Given the description of an element on the screen output the (x, y) to click on. 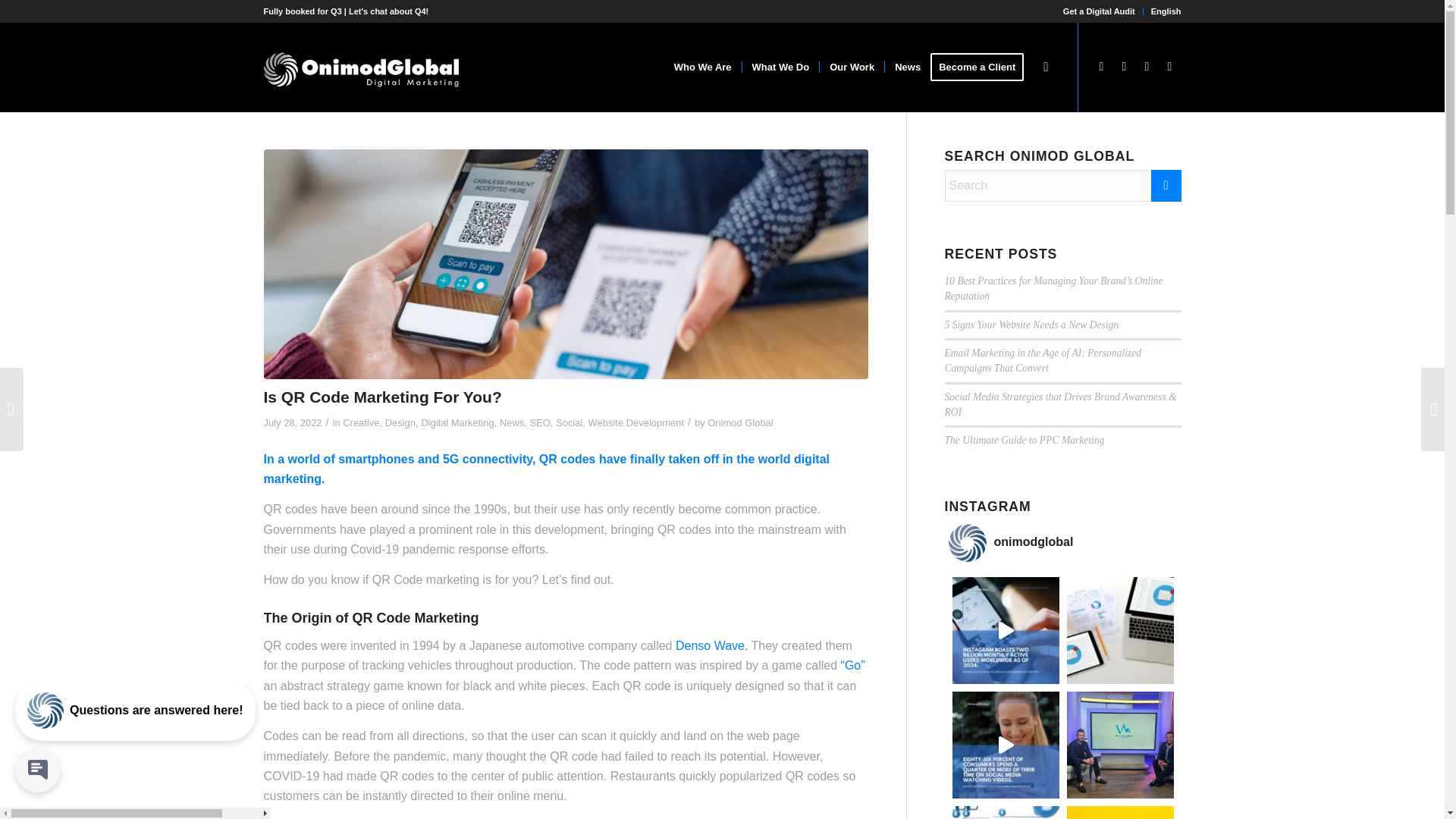
Let's chat about Q4! (388, 10)
Facebook (1124, 66)
Get a Digital Audit (1098, 11)
SEO (539, 422)
Onimod Global (740, 422)
English (1165, 11)
Social (569, 422)
Digital Marketing (456, 422)
Posts by Onimod Global (740, 422)
Creative (360, 422)
Denso Wave. (711, 645)
X (1101, 66)
Instagram (1169, 66)
Design (399, 422)
